Given the description of an element on the screen output the (x, y) to click on. 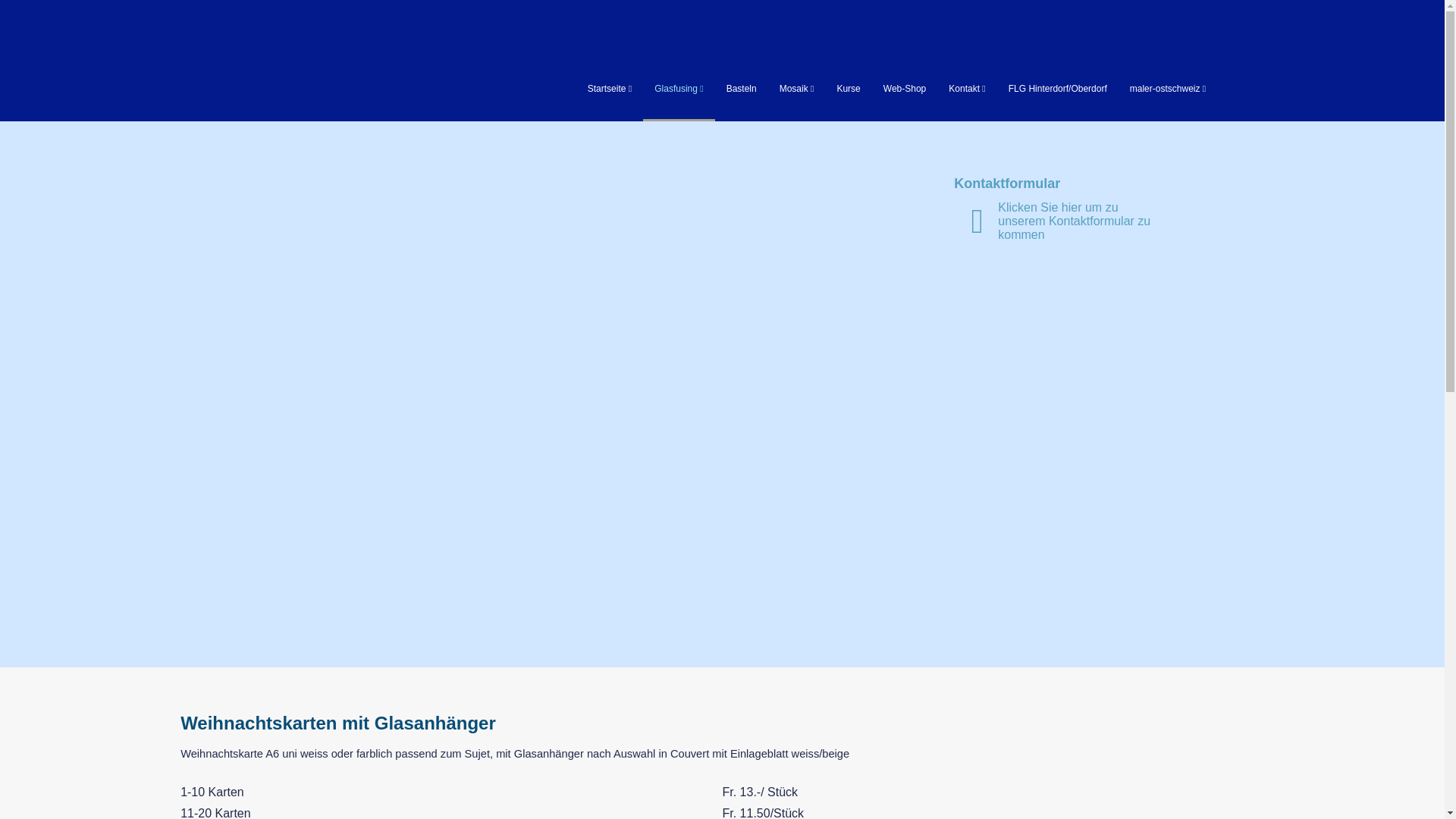
Startseite Element type: text (609, 88)
Kurse Element type: text (847, 88)
Mosaik Element type: text (796, 88)
maler-ostschweiz Element type: text (1167, 88)
Web-Shop Element type: text (904, 88)
Basteln Element type: text (741, 88)
Kontakt Element type: text (966, 88)
Glasfusing Element type: text (678, 88)
FLG Hinterdorf/Oberdorf Element type: text (1057, 88)
